Given the description of an element on the screen output the (x, y) to click on. 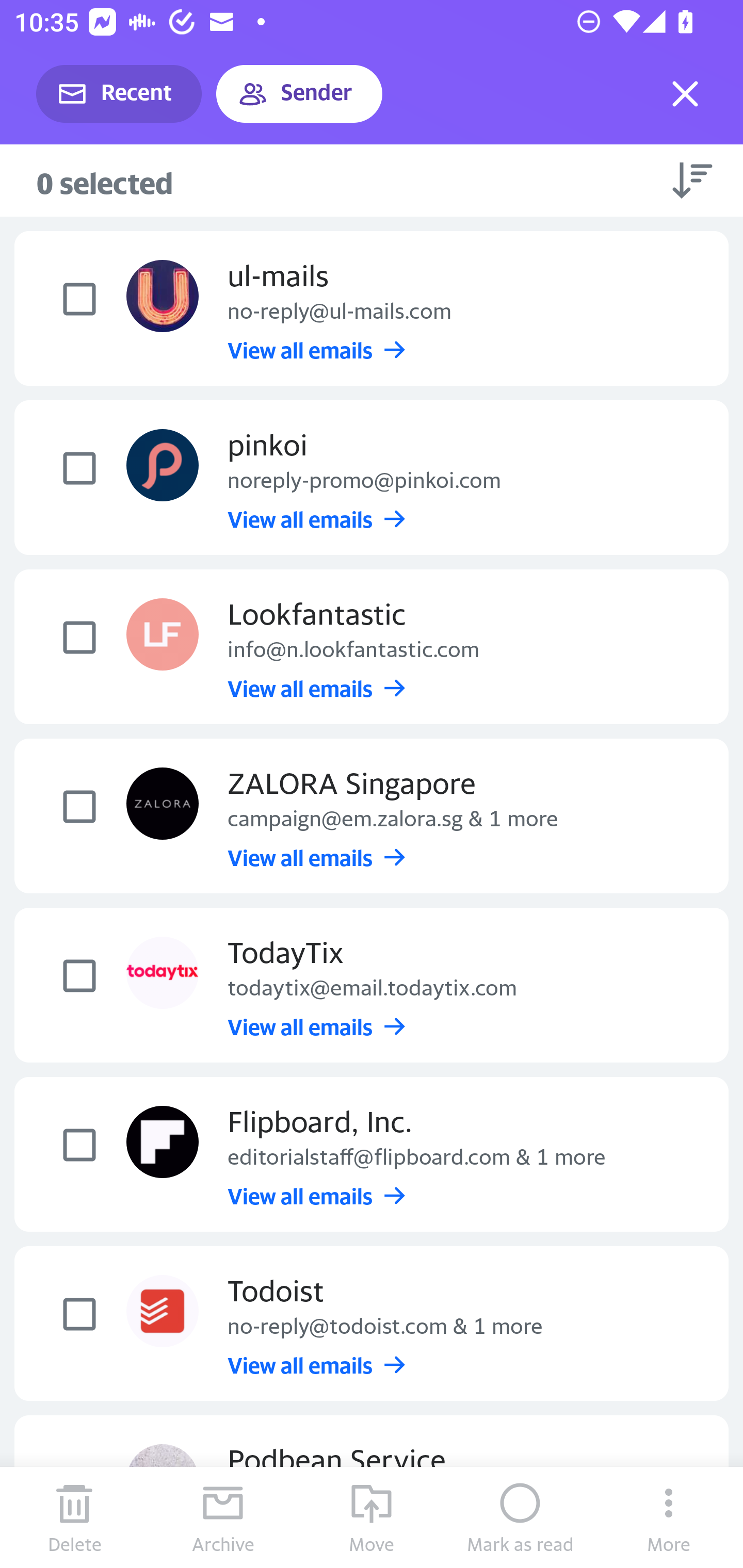
Recent (119, 93)
Exit selection mode (684, 93)
Sort (692, 180)
ul-mails no-reply@ul-mails.com View all emails (371, 307)
pinkoi noreply-promo@pinkoi.com View all emails (371, 477)
Delete (74, 1517)
Archive (222, 1517)
Move (371, 1517)
Mark as read (519, 1517)
More (668, 1517)
